Given the description of an element on the screen output the (x, y) to click on. 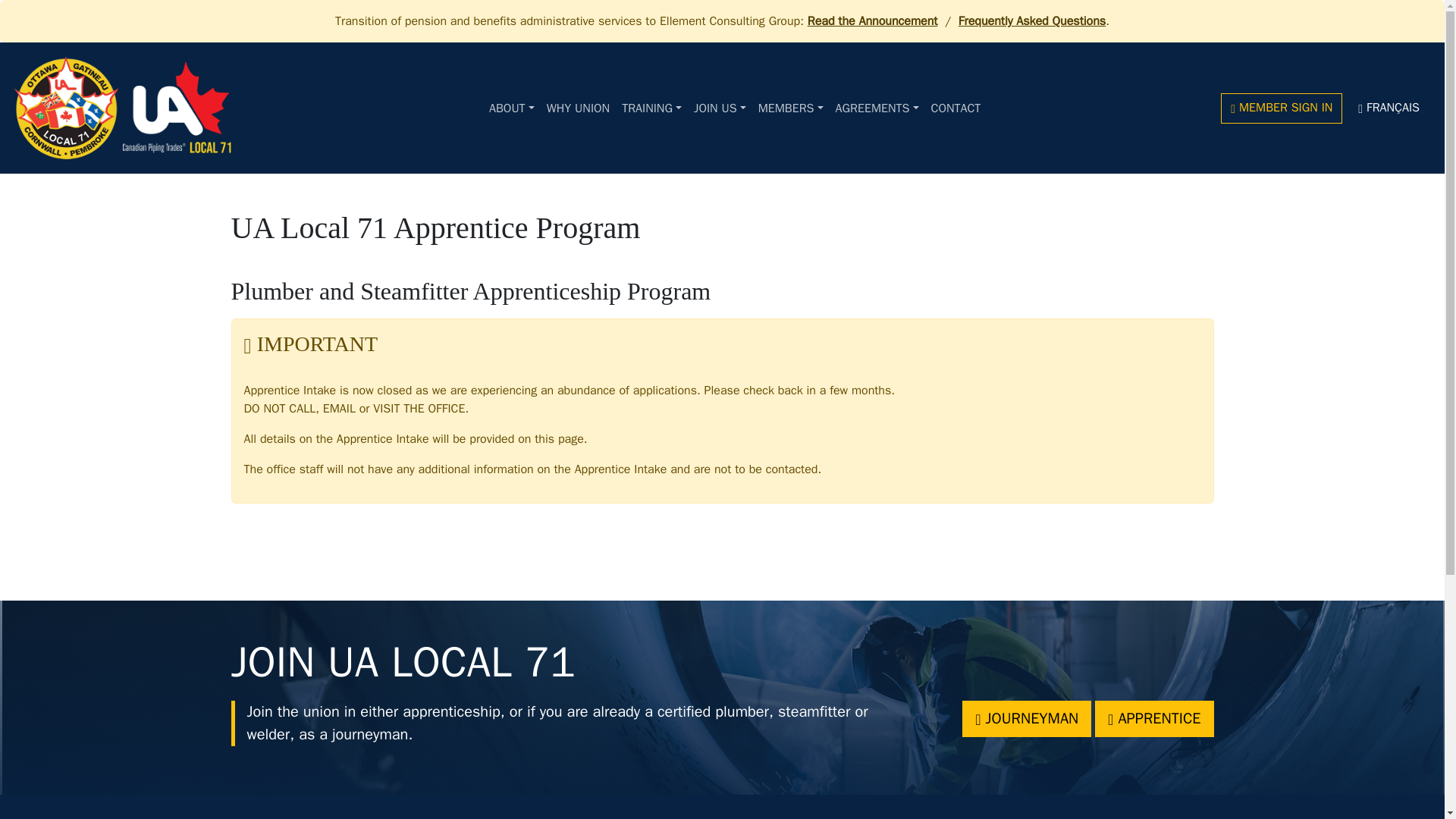
ABOUT (511, 108)
Formation (651, 108)
Read the Announcement (872, 20)
TRAINING (651, 108)
Members (790, 108)
AGREEMENTS (876, 108)
MEMBER SIGN IN (1281, 108)
WHY UNION (577, 108)
Return to our Home Page (121, 107)
Join the Union (577, 108)
MEMBERS (790, 108)
CONTACT (955, 108)
Frequently Asked Questions (1031, 20)
About (511, 108)
 JOURNEYMAN (1026, 719)
